Given the description of an element on the screen output the (x, y) to click on. 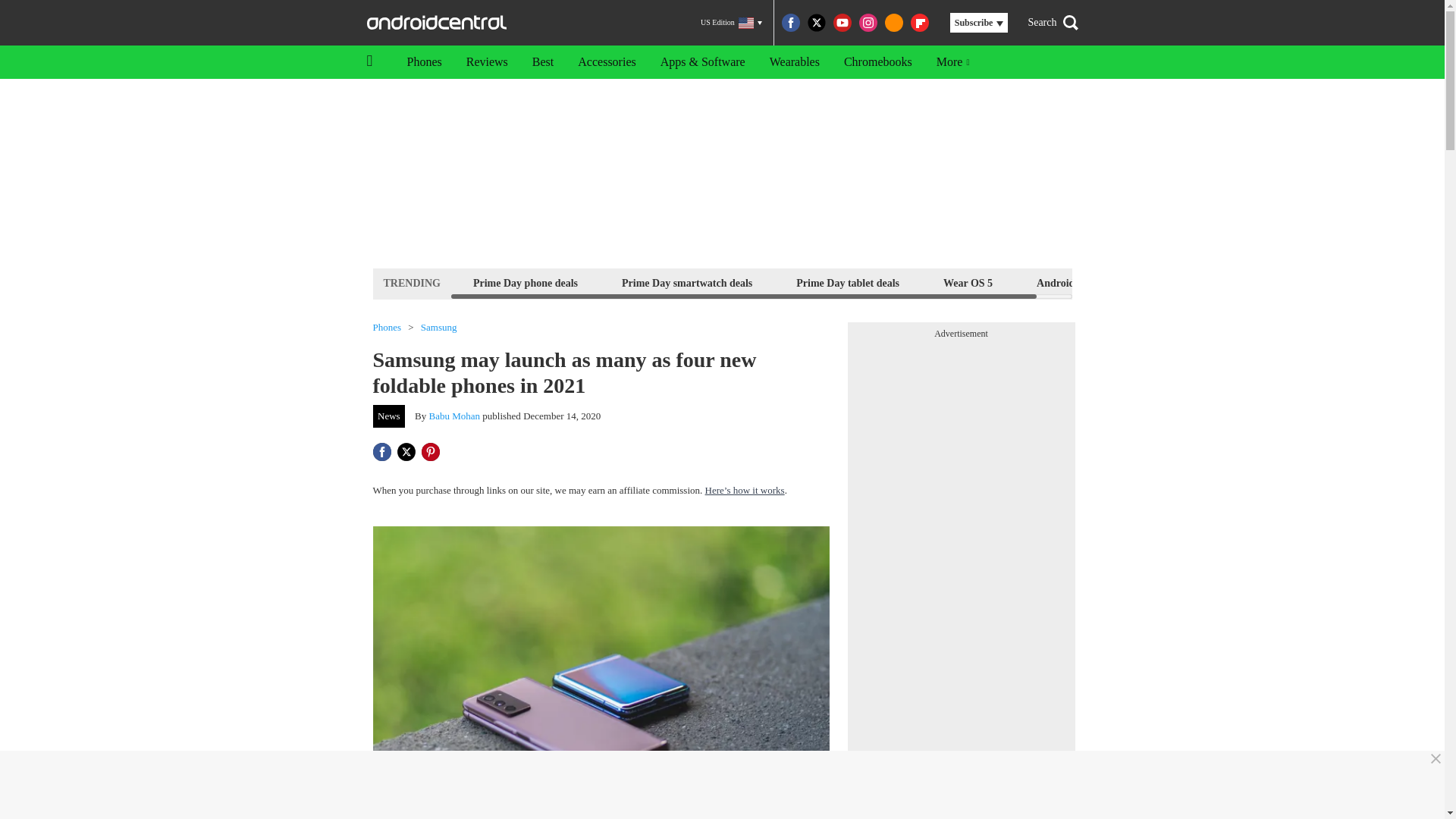
Prime Day phone deals (525, 282)
Wear OS 5 (967, 282)
Phones (386, 327)
Accessories (606, 61)
Best (542, 61)
Phones (423, 61)
Reviews (486, 61)
US Edition (731, 22)
Prime Day tablet deals (847, 282)
Android 15 (1061, 282)
Wearables (794, 61)
Prime Day smartwatch deals (686, 282)
